Given the description of an element on the screen output the (x, y) to click on. 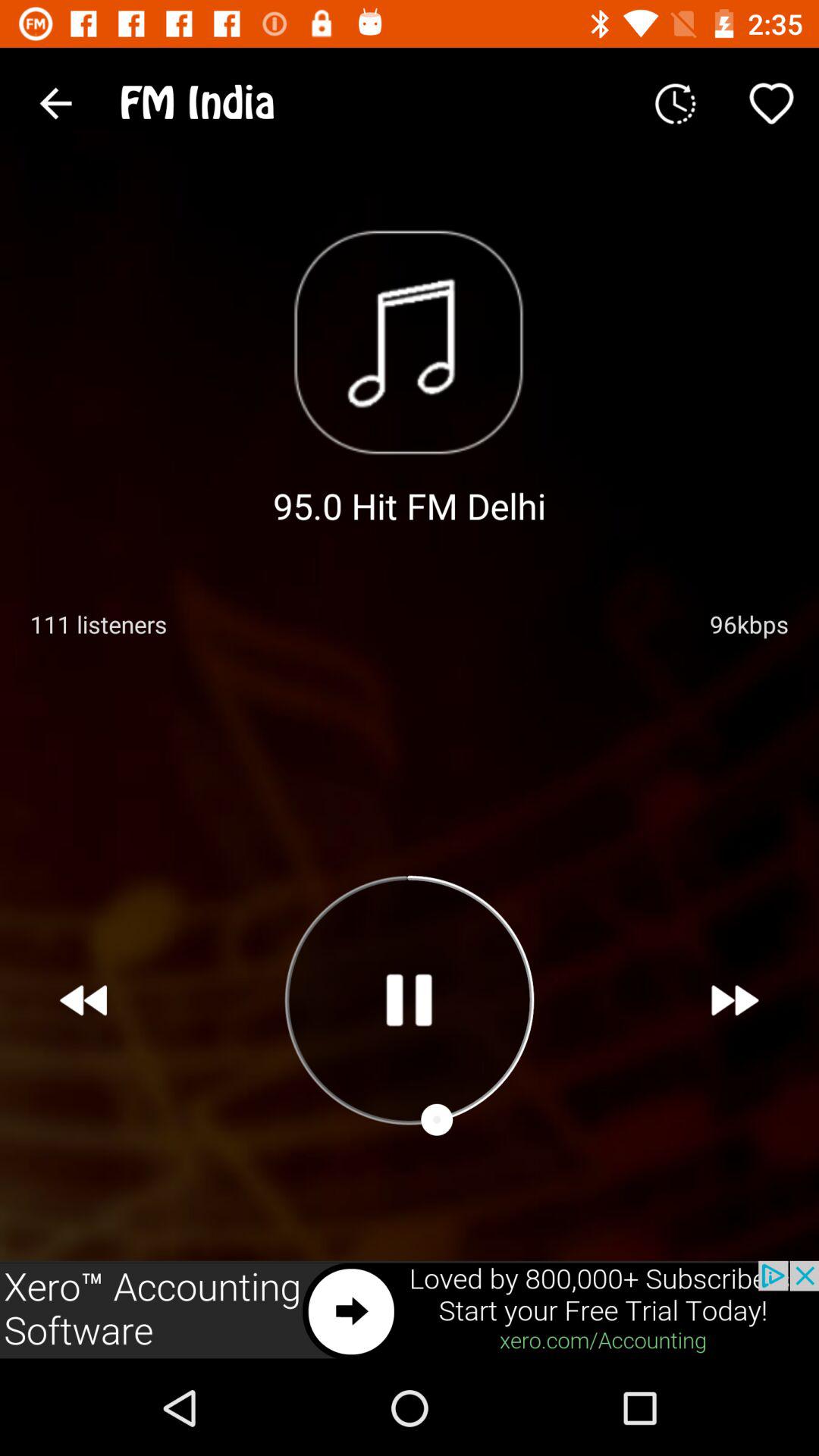
pause music (409, 999)
